Given the description of an element on the screen output the (x, y) to click on. 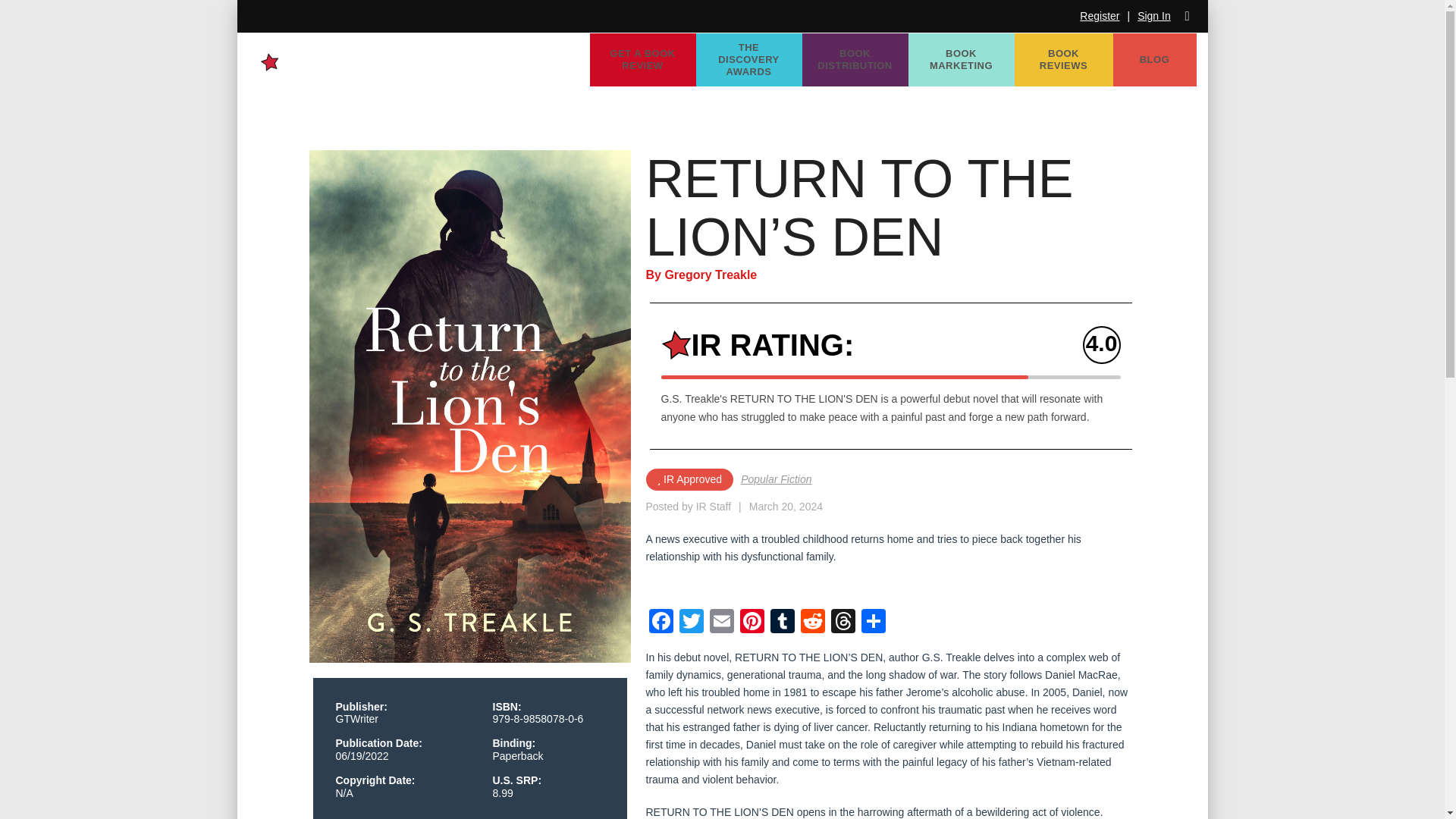
Register (1099, 16)
Facebook (661, 623)
Reddit (812, 623)
Share (873, 623)
Twitter (691, 623)
Reddit (812, 623)
Popular Fiction (775, 479)
Sign In (1153, 16)
GET A BOOK REVIEW (642, 59)
BOOK REVIEWS (1063, 59)
Tumblr (782, 623)
Facebook (661, 623)
THE DISCOVERY AWARDS (748, 59)
BOOK DISTRIBUTION (855, 59)
Email (721, 623)
